Given the description of an element on the screen output the (x, y) to click on. 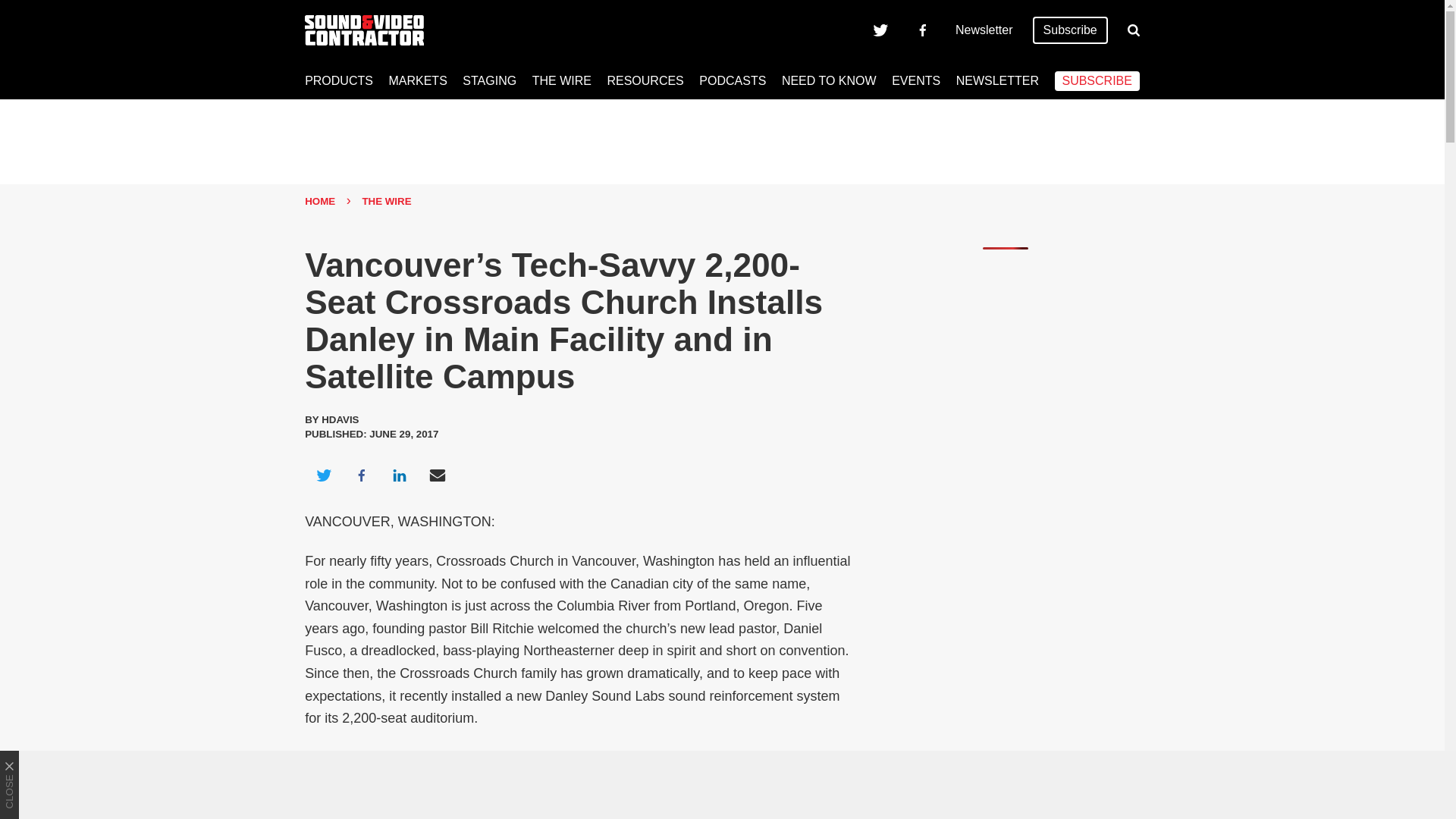
Share on Twitter (323, 475)
Share on Facebook (361, 475)
Share on LinkedIn (399, 475)
Share via Email (438, 475)
